Given the description of an element on the screen output the (x, y) to click on. 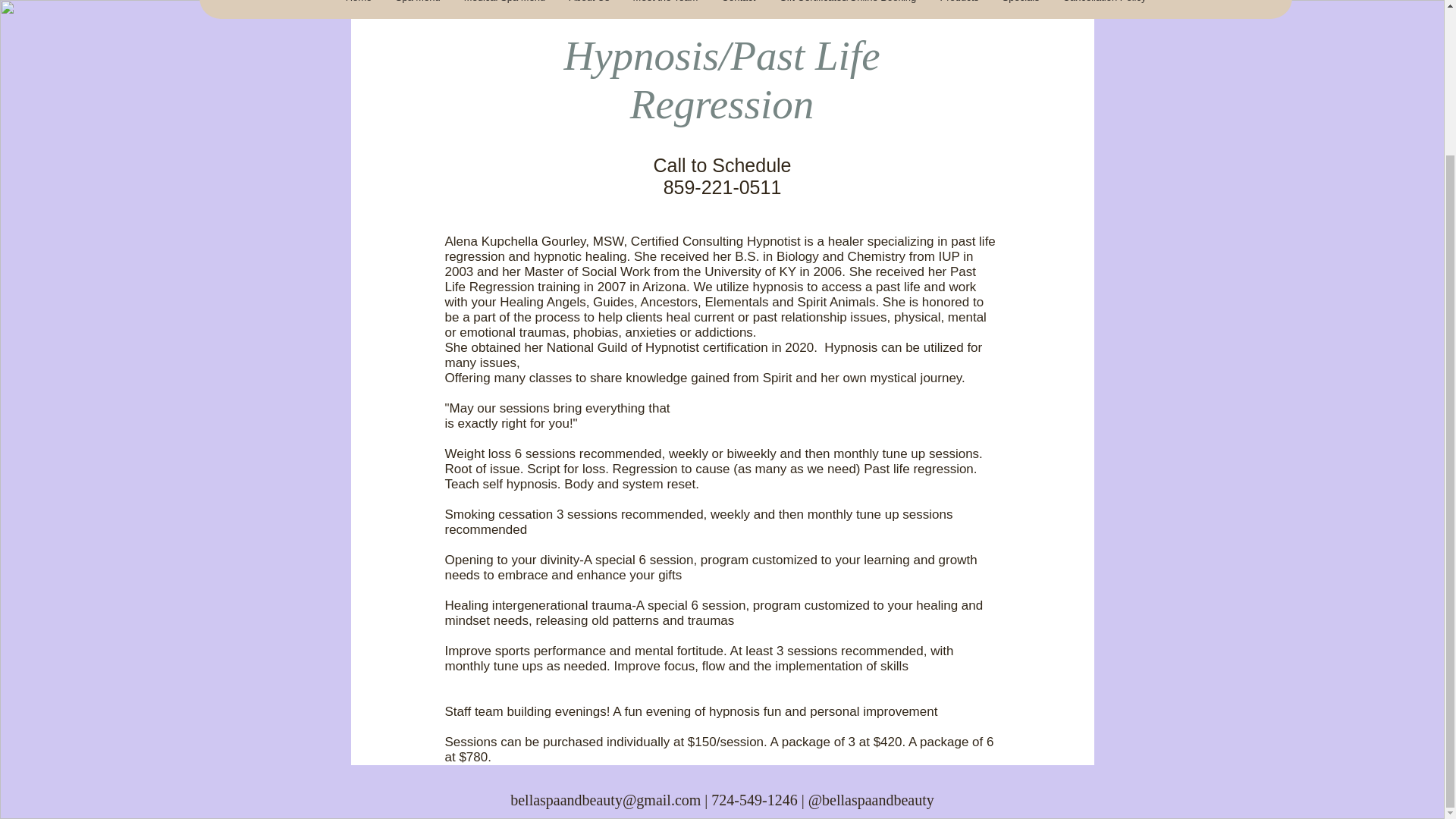
Medical Spa Menu (504, 9)
Contact (738, 9)
Home (358, 9)
Meet the Team (664, 9)
Cancellation Policy (1104, 9)
Specials (1020, 9)
About Us (588, 9)
Products (959, 9)
Spa Menu (417, 9)
